Given the description of an element on the screen output the (x, y) to click on. 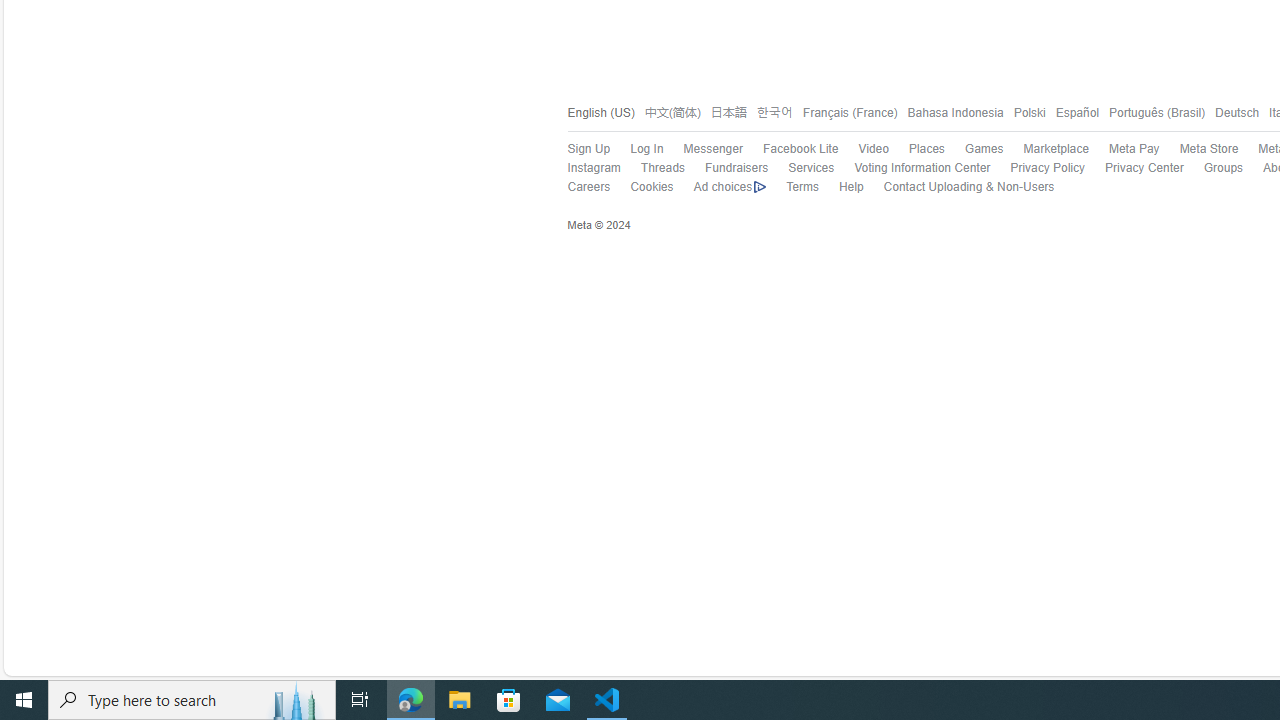
Contact Uploading & Non-Users (968, 187)
Bahasa Indonesia (950, 112)
Sign Up (588, 148)
Help (840, 187)
Messenger (712, 148)
Voting Information Center (912, 169)
Contact Uploading & Non-Users (958, 187)
Services (801, 169)
Fundraisers (736, 168)
Help (851, 187)
Meta Pay (1123, 149)
Video (863, 149)
Facebook Lite (790, 149)
